Given the description of an element on the screen output the (x, y) to click on. 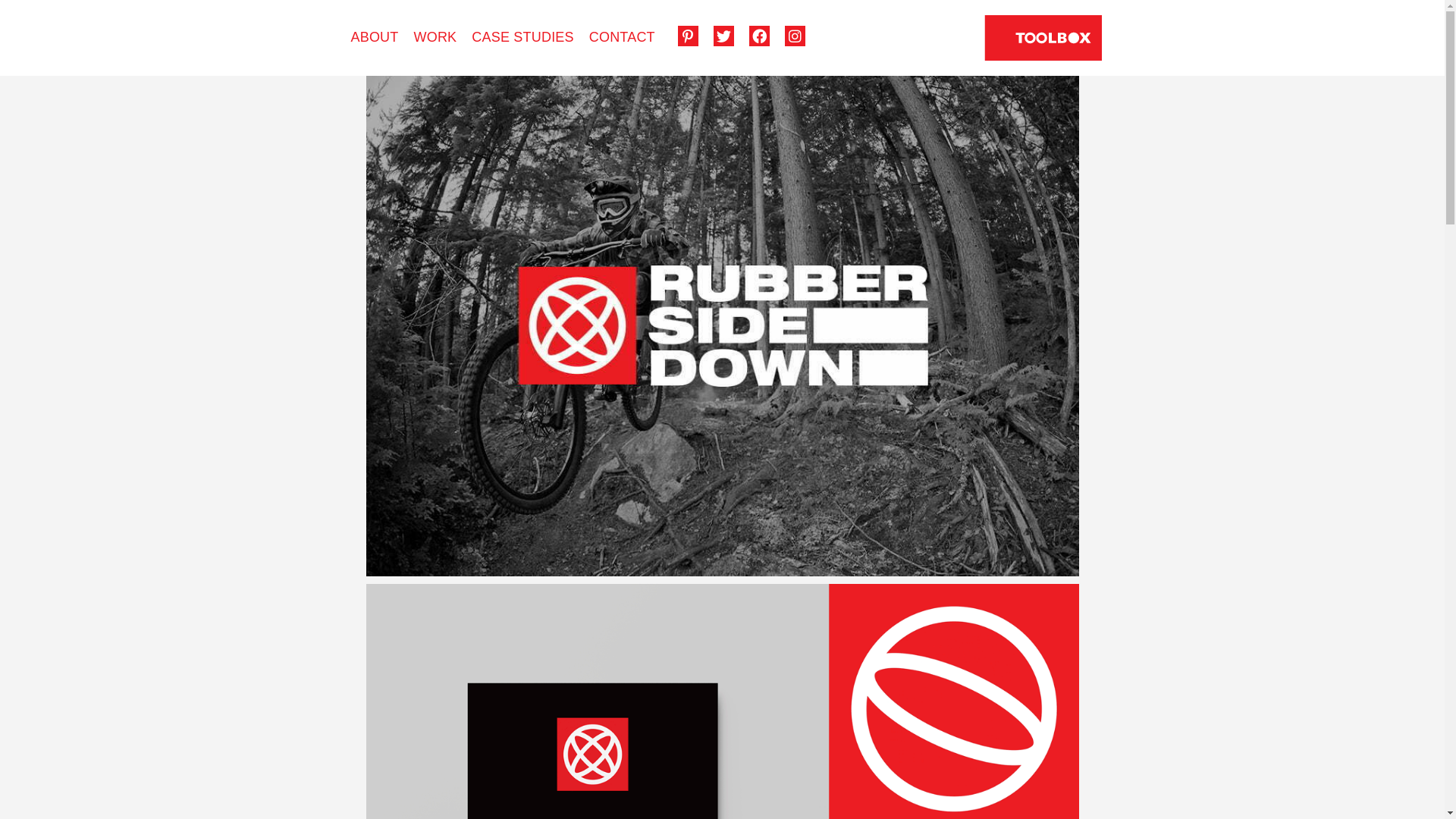
ABOUT Element type: text (374, 36)
CASE STUDIES Element type: text (522, 36)
CONTACT Element type: text (622, 36)
WORK Element type: text (435, 36)
Rubber Side Down Logo Element type: hover (721, 325)
